Given the description of an element on the screen output the (x, y) to click on. 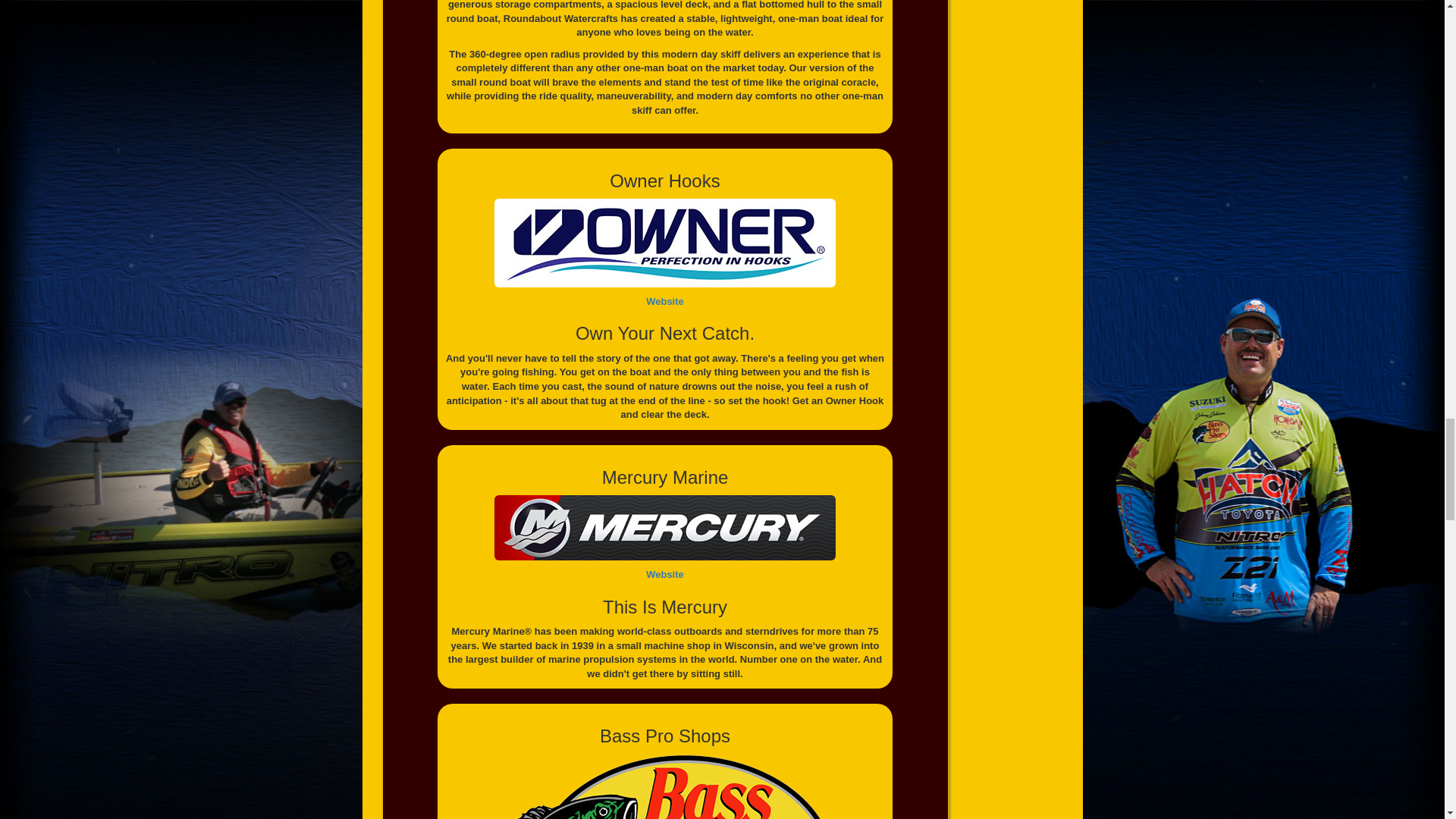
Website (665, 573)
Website (665, 301)
